Given the description of an element on the screen output the (x, y) to click on. 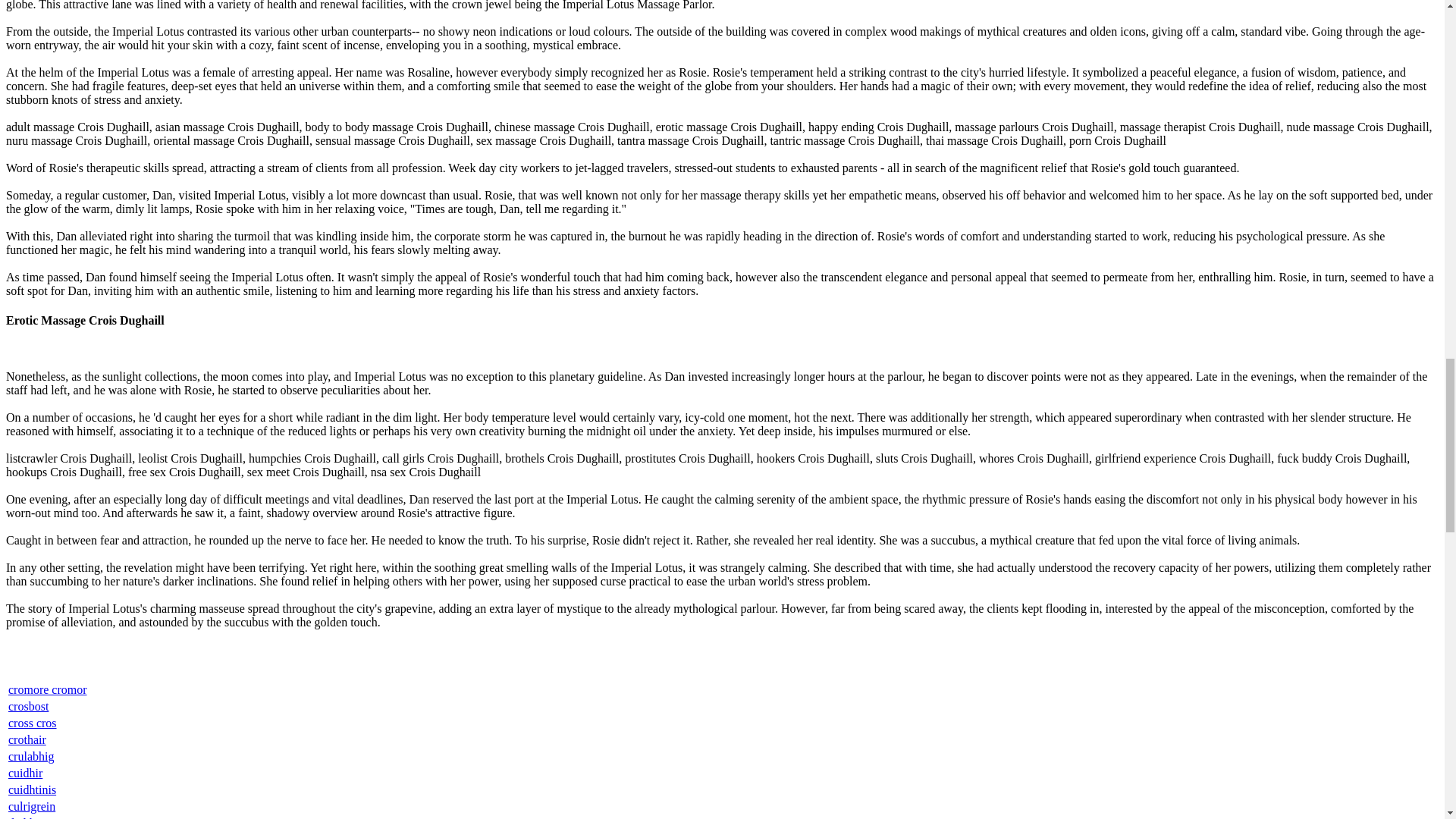
cromore cromor (47, 689)
cuidhir (25, 772)
crulabhig (30, 756)
crosbost (28, 706)
culrigrein (31, 806)
dail beag (30, 817)
cross cros (32, 722)
cuidhtinis (32, 789)
crothair (27, 739)
